Given the description of an element on the screen output the (x, y) to click on. 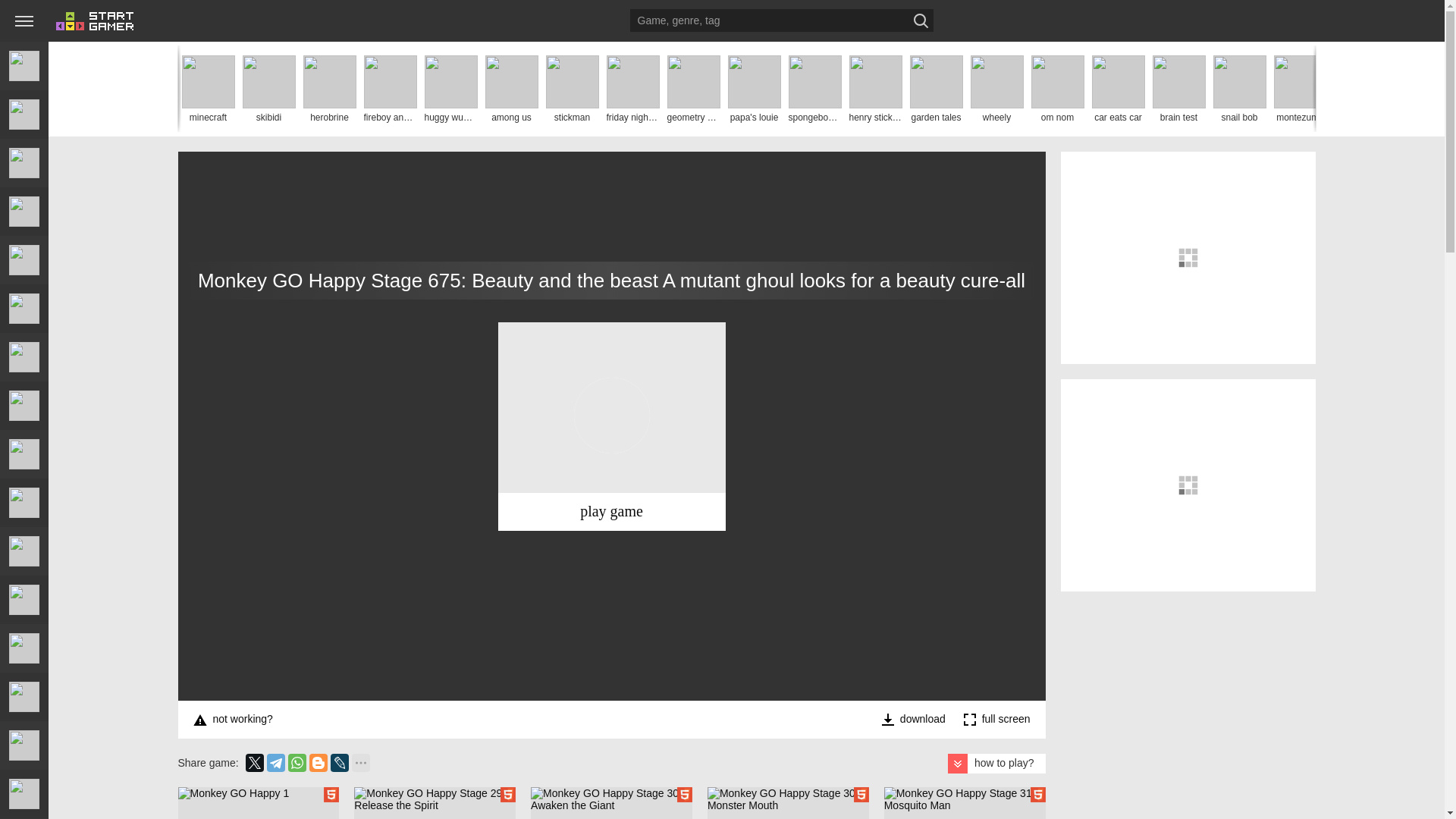
jigsaw puzzles (24, 599)
lines (24, 696)
mahjong (24, 162)
bubble shooter (24, 453)
tetris (24, 405)
fishing (24, 818)
find items (24, 793)
match 3 (24, 211)
farm (24, 502)
New (24, 65)
Best (24, 114)
simple (24, 551)
io (24, 308)
card (24, 356)
